Given the description of an element on the screen output the (x, y) to click on. 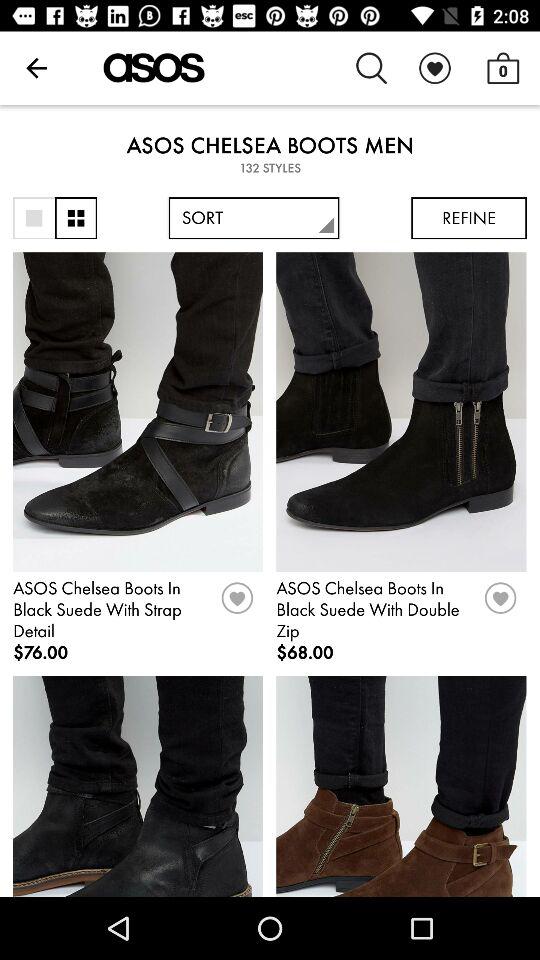
tap 0 item (503, 68)
